Given the description of an element on the screen output the (x, y) to click on. 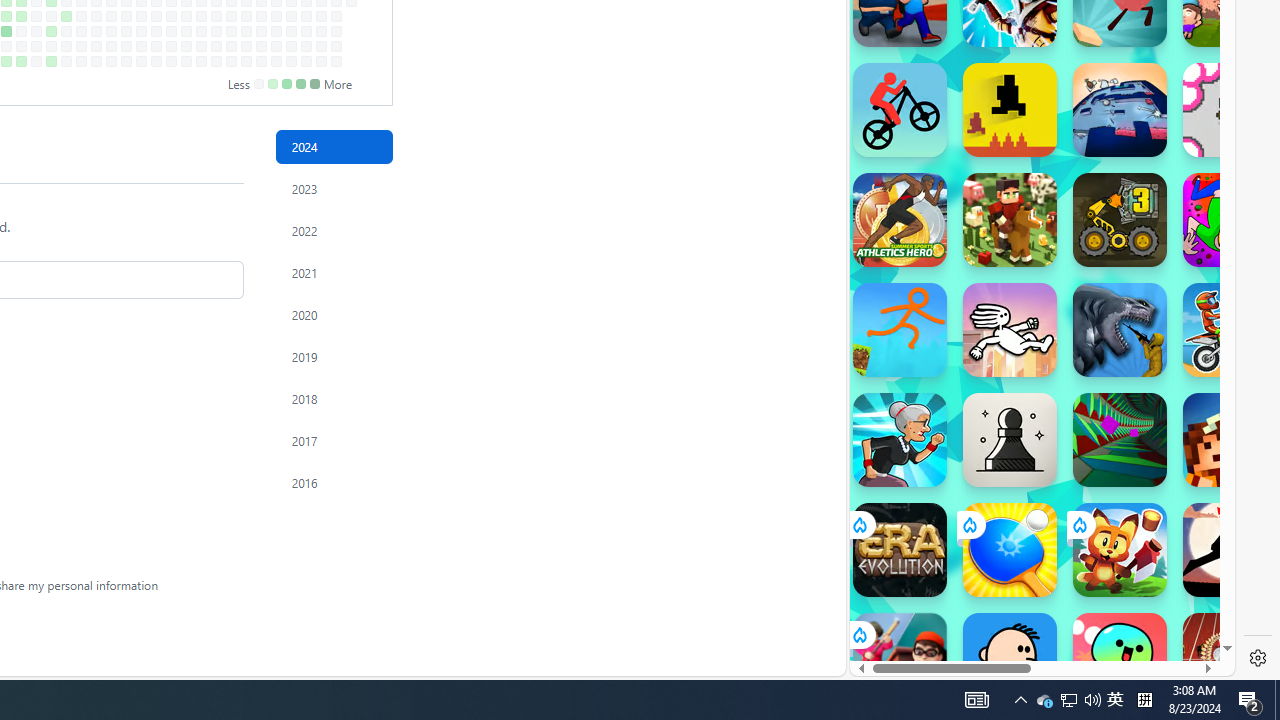
No contributions on December 28th. (336, 61)
1 contribution on July 24th. (6, 16)
Class: rCs5cyEiqiTpYvt_VBCR (858, 634)
Contribution activity in 2023 (333, 188)
Stickman Parkour Skyland (899, 329)
No contributions on December 6th. (290, 46)
No contributions on December 12th. (306, 30)
No contributions on September 19th. (126, 30)
Into the Pit Into the Pit (1229, 109)
Combat Reloaded (1092, 300)
Sharkosaurus Rampage (1119, 329)
No contributions on November 28th. (276, 30)
No contributions on November 15th. (246, 46)
No contributions on December 14th. (306, 61)
